Given the description of an element on the screen output the (x, y) to click on. 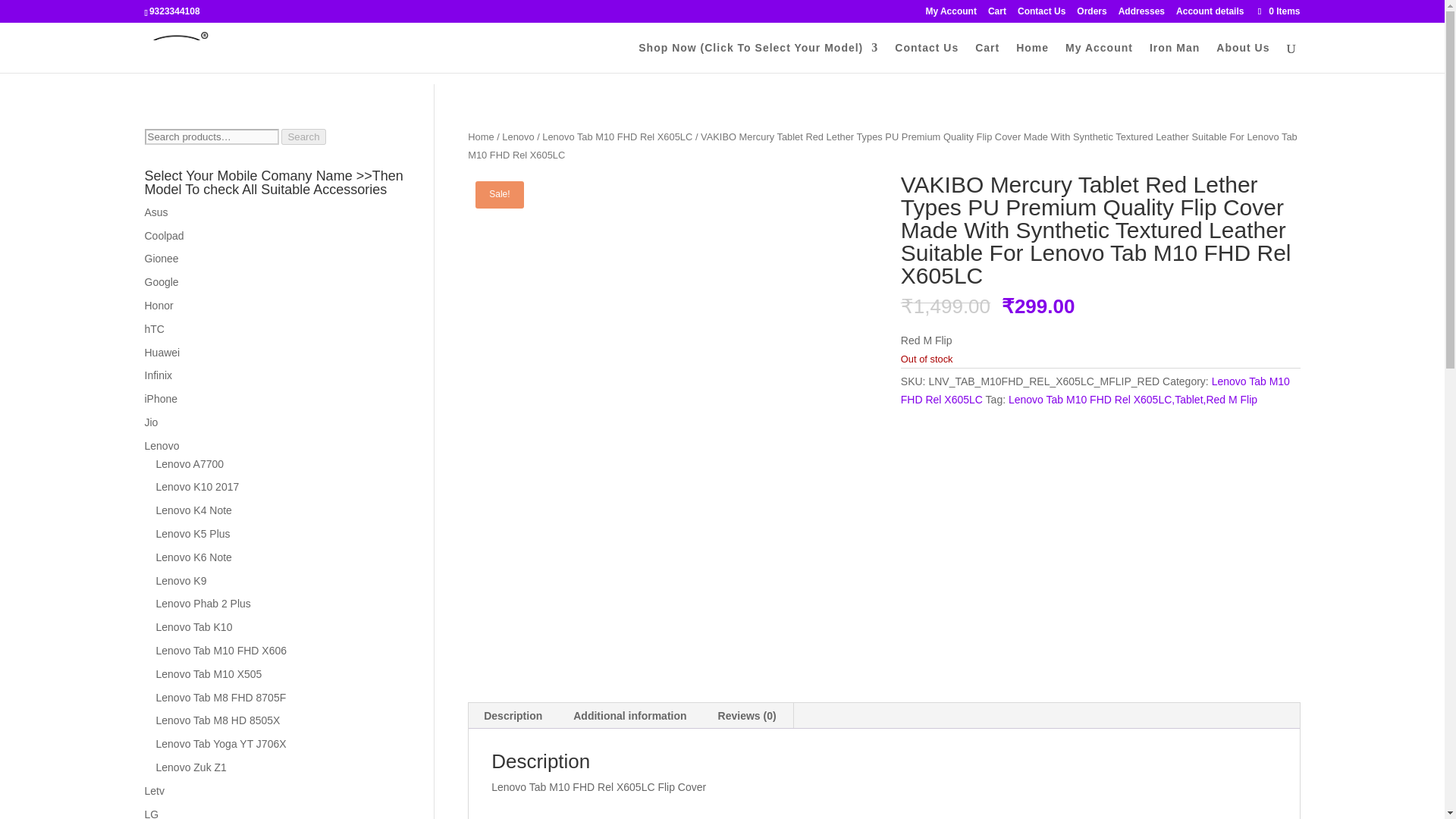
My Account (950, 14)
Additional information (629, 715)
Description (513, 715)
Lenovo (518, 136)
Search (302, 136)
Contact Us (926, 57)
Cart (997, 14)
Iron Man (1174, 57)
Addresses (1141, 14)
Home (1032, 57)
